Given the description of an element on the screen output the (x, y) to click on. 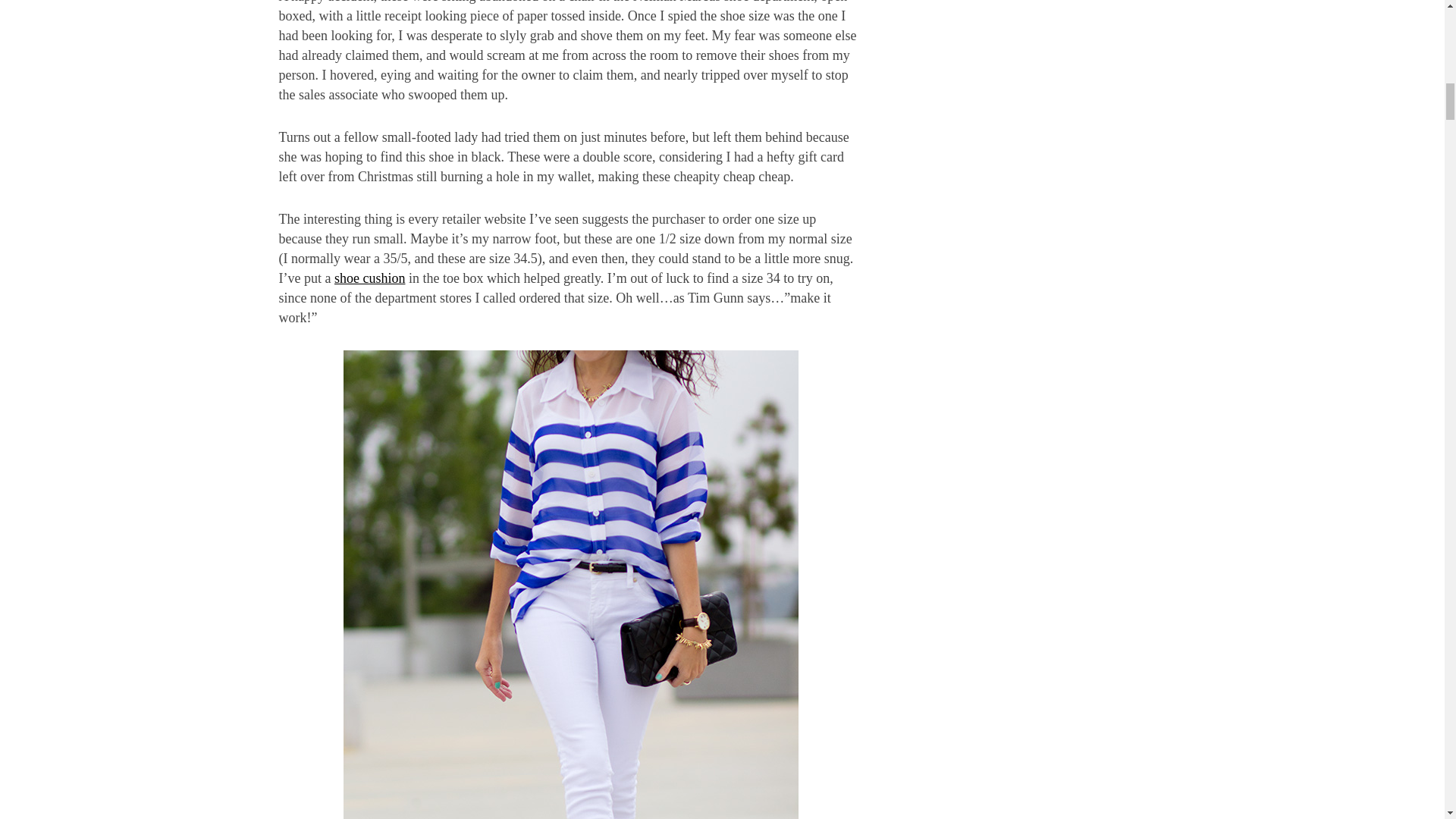
shoe cushion (370, 278)
